Given the description of an element on the screen output the (x, y) to click on. 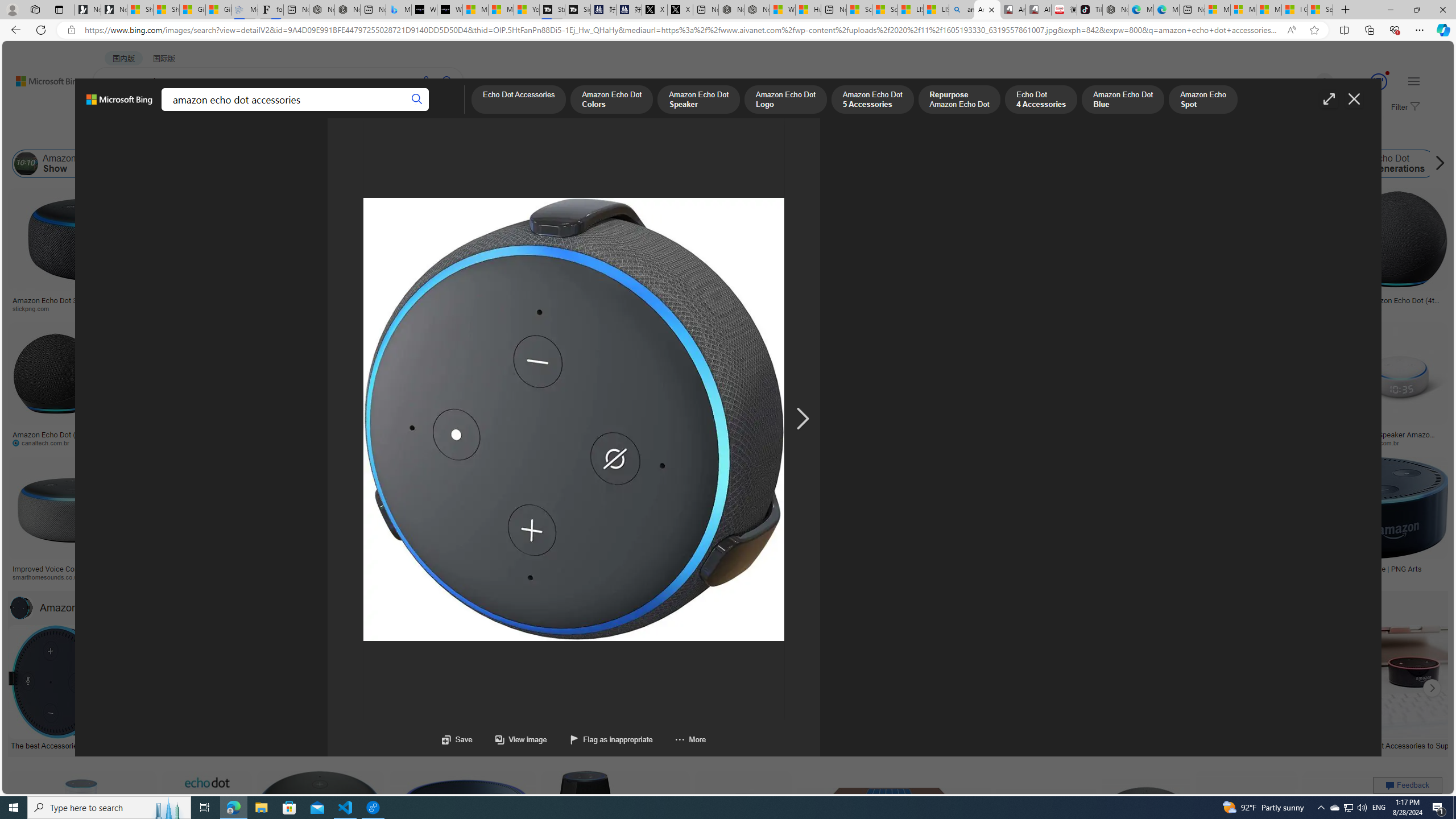
Microsoft Bing, Back to Bing search (118, 104)
Amazon Echo Spot (1165, 163)
Amazon Echo Dot PNG transparente - StickPNG (349, 303)
Amazon.com: echo dot accessories (1245, 744)
Alexa Dot Transparent Image | PNG Artspngarts.comSave (1366, 521)
Scroll right (1436, 163)
mediamarkt.de (499, 576)
